Given the description of an element on the screen output the (x, y) to click on. 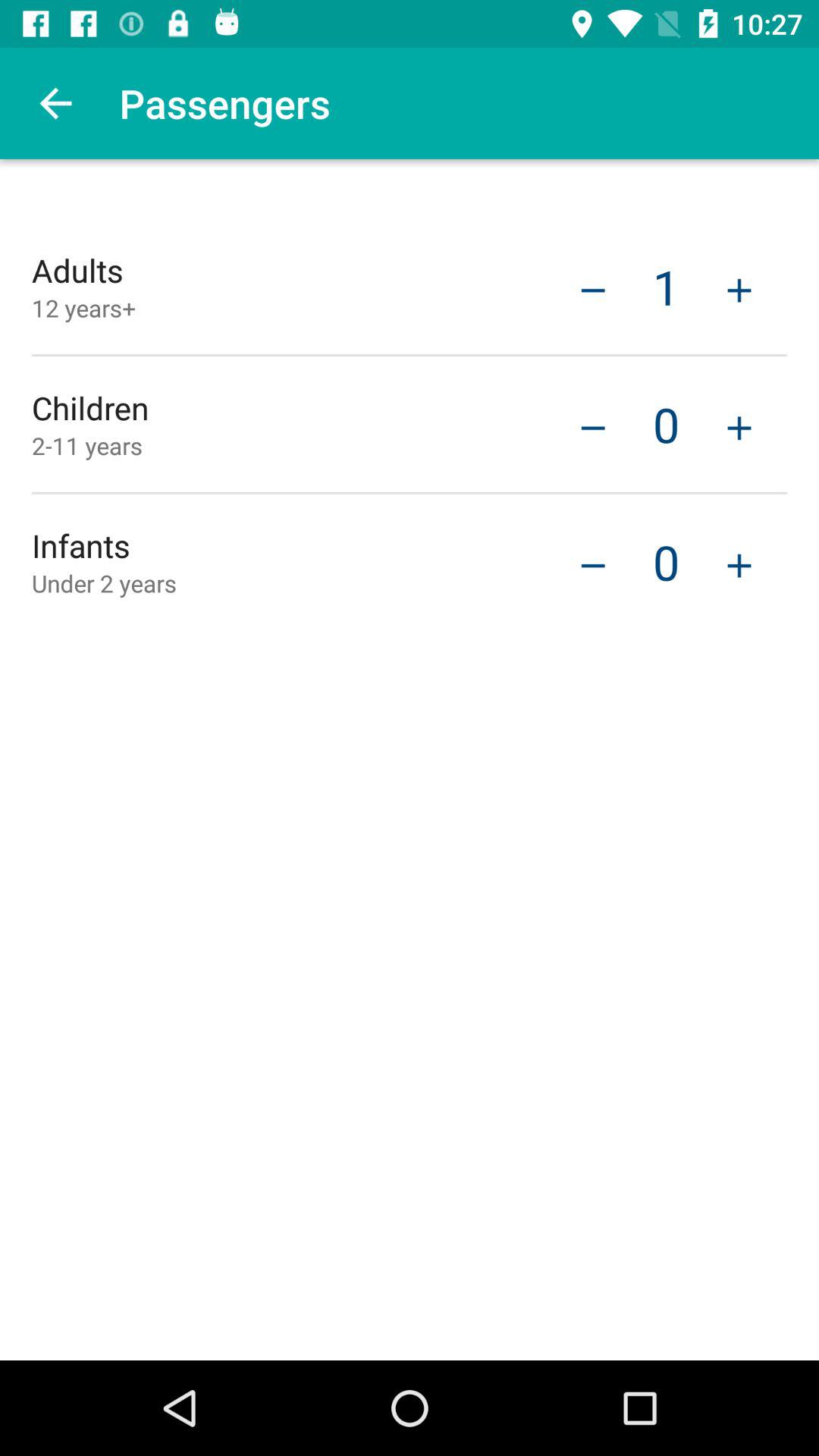
decrement (592, 563)
